Given the description of an element on the screen output the (x, y) to click on. 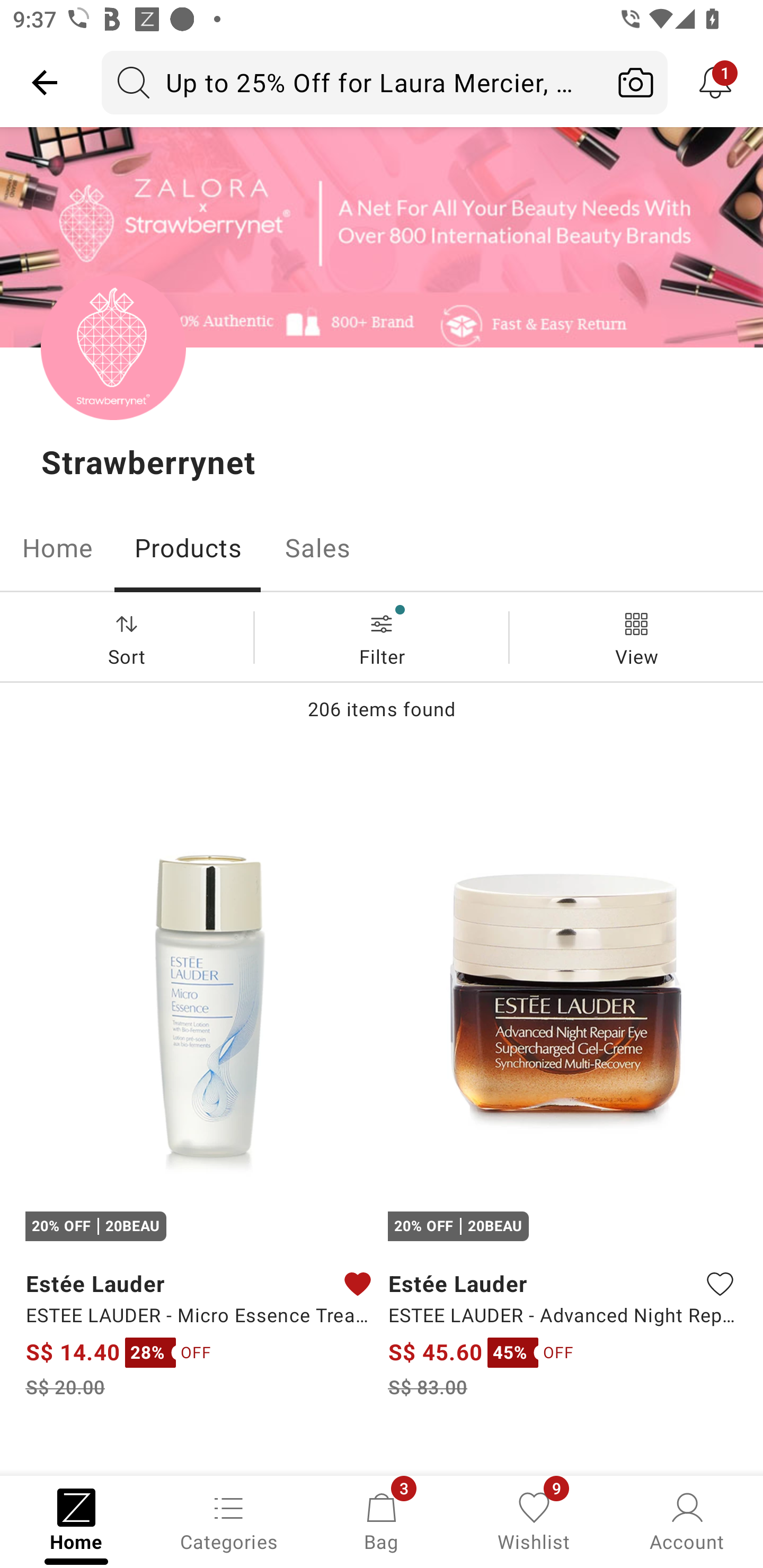
Navigate up (44, 82)
Home (57, 547)
Sales (317, 547)
Categories (228, 1519)
Bag, 3 new notifications Bag (381, 1519)
Wishlist, 9 new notifications Wishlist (533, 1519)
Account (686, 1519)
